Given the description of an element on the screen output the (x, y) to click on. 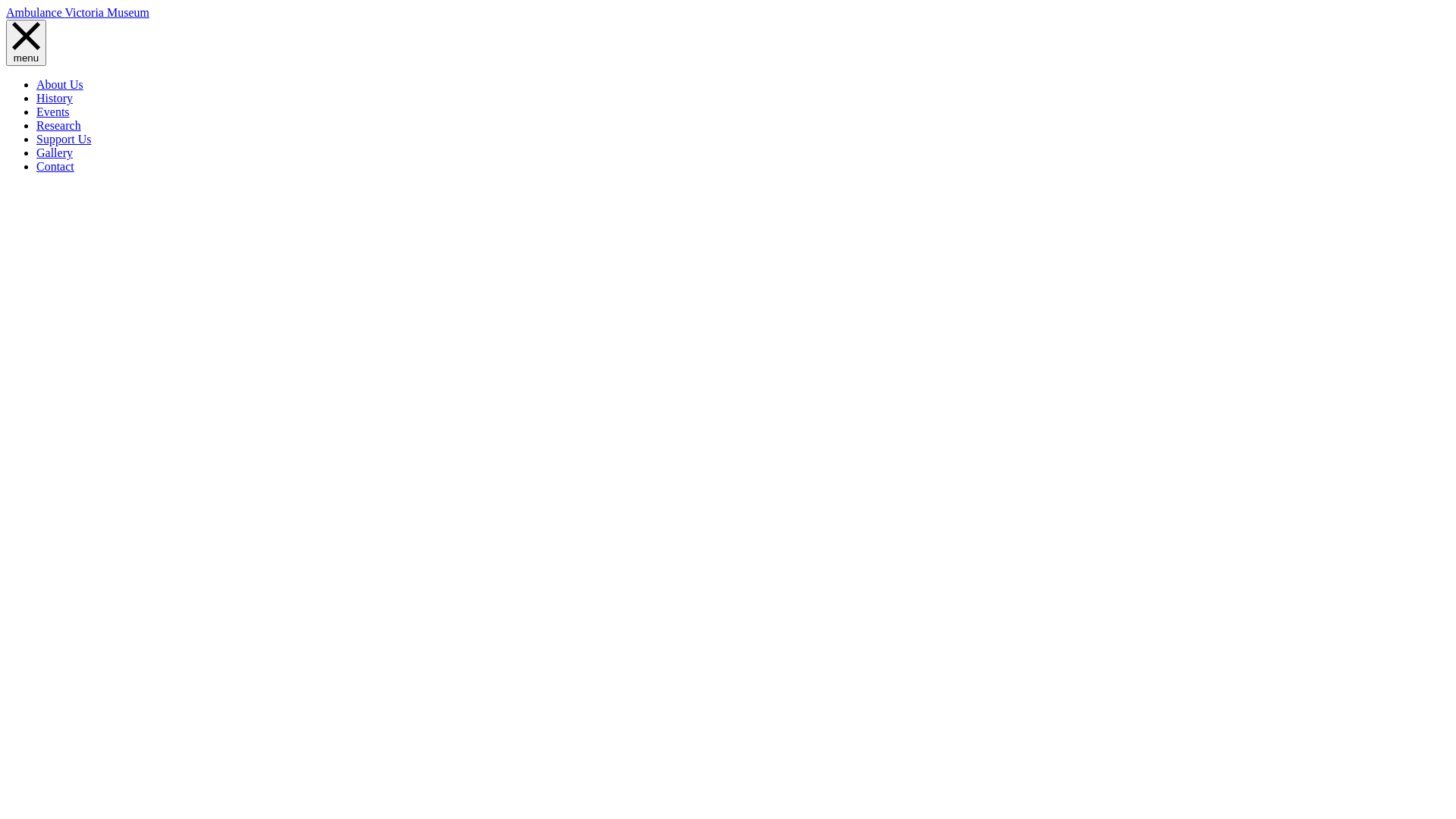
menu Element type: text (26, 42)
Contact Element type: text (55, 166)
Support Us Element type: text (63, 138)
Research Element type: text (58, 125)
Ambulance Victoria Museum Element type: text (77, 12)
Events Element type: text (52, 111)
History Element type: text (54, 97)
Gallery Element type: text (54, 152)
About Us Element type: text (59, 84)
